Given the description of an element on the screen output the (x, y) to click on. 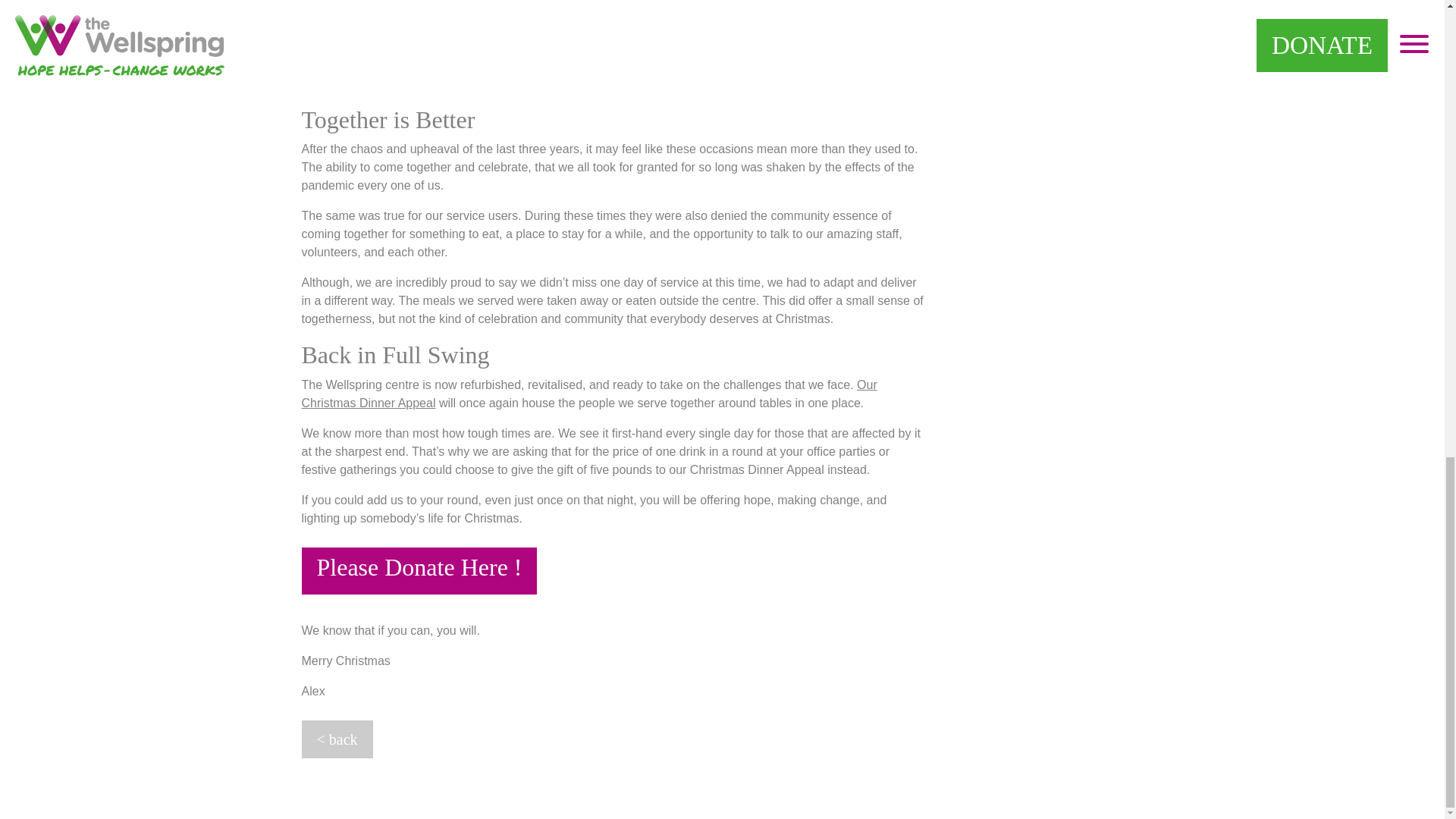
Our Christmas Dinner Appeal (589, 393)
Please Donate Here ! (419, 570)
